Given the description of an element on the screen output the (x, y) to click on. 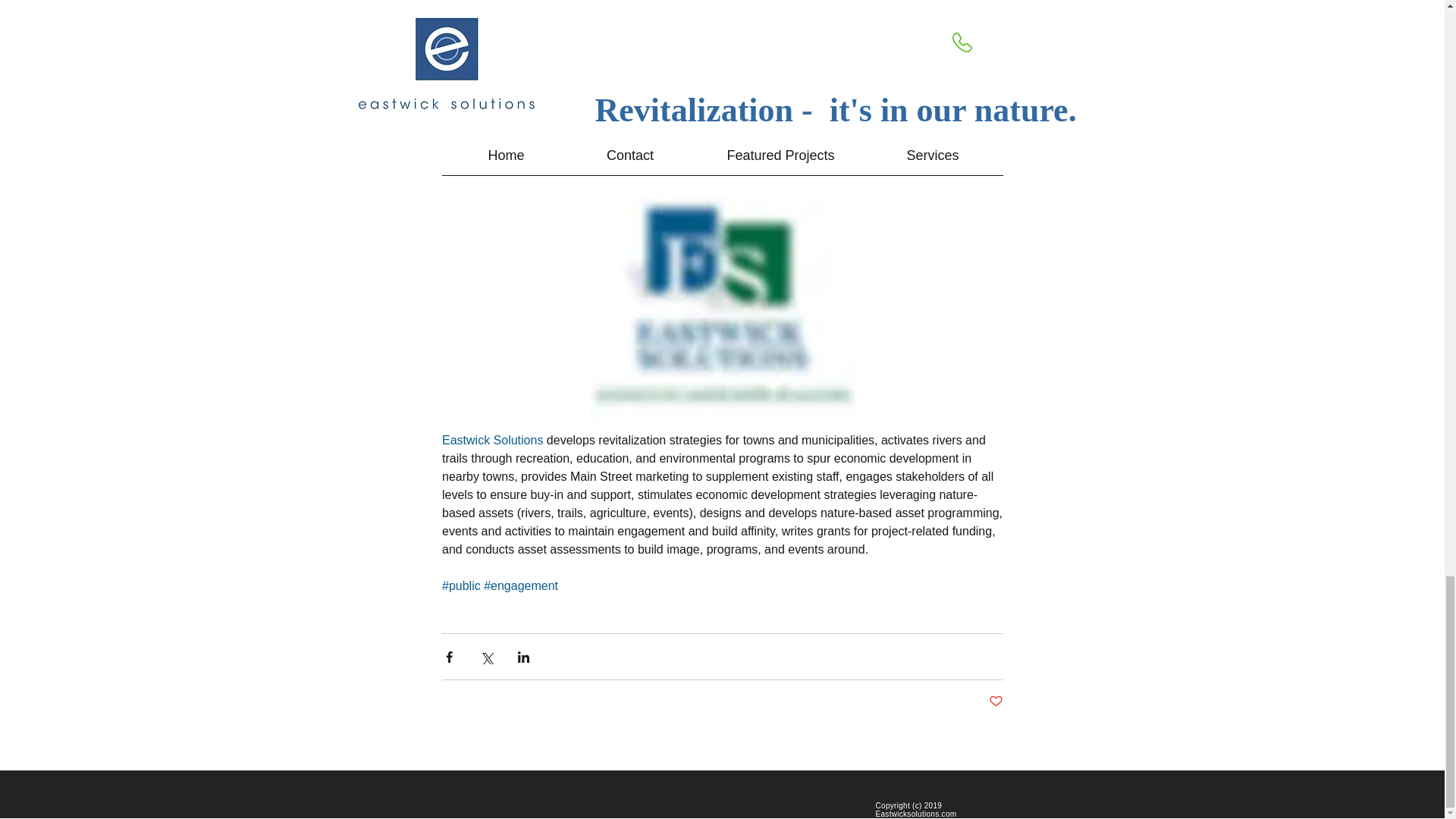
Post not marked as liked (995, 701)
Eastwick Solutions  (493, 440)
